Given the description of an element on the screen output the (x, y) to click on. 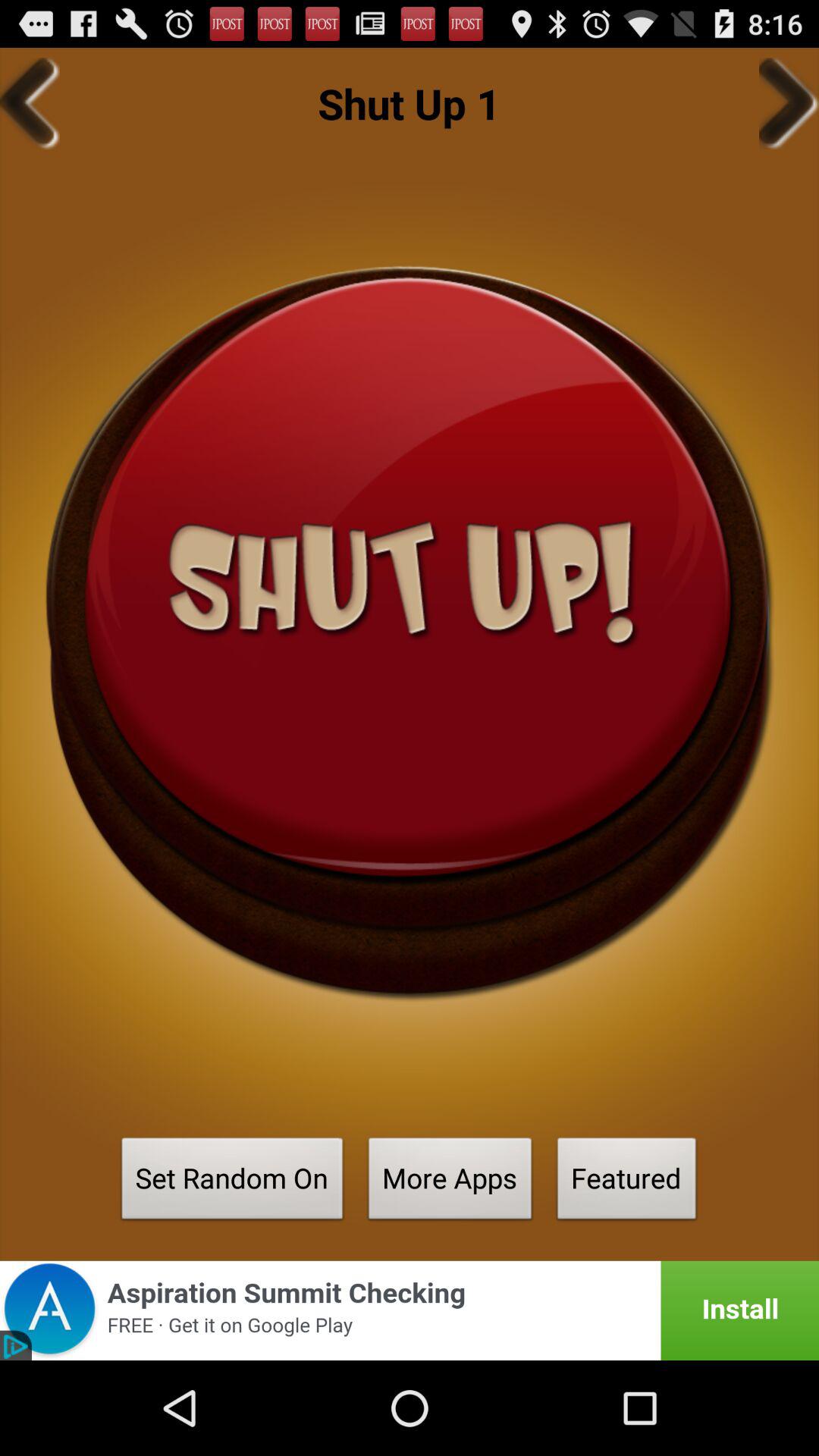
open item next to the more apps item (626, 1182)
